Given the description of an element on the screen output the (x, y) to click on. 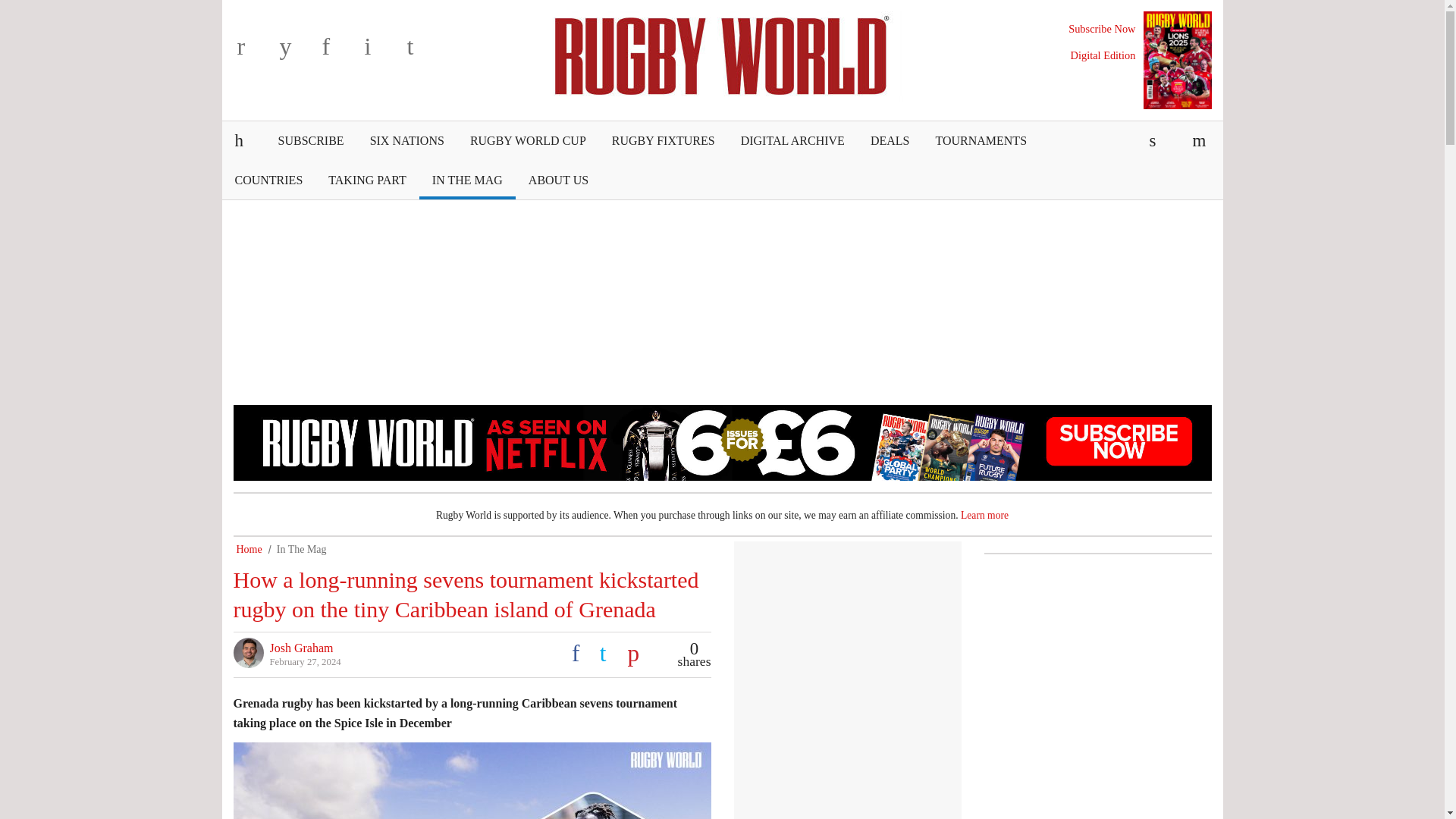
Subscribe Now (1101, 28)
RUGBY FIXTURES (663, 140)
Rugby World (721, 53)
DIGITAL ARCHIVE (792, 140)
RUGBY WORLD CUP (527, 140)
Digital Edition (1102, 55)
DEALS (890, 140)
i (382, 52)
r (254, 52)
t (424, 52)
